Given the description of an element on the screen output the (x, y) to click on. 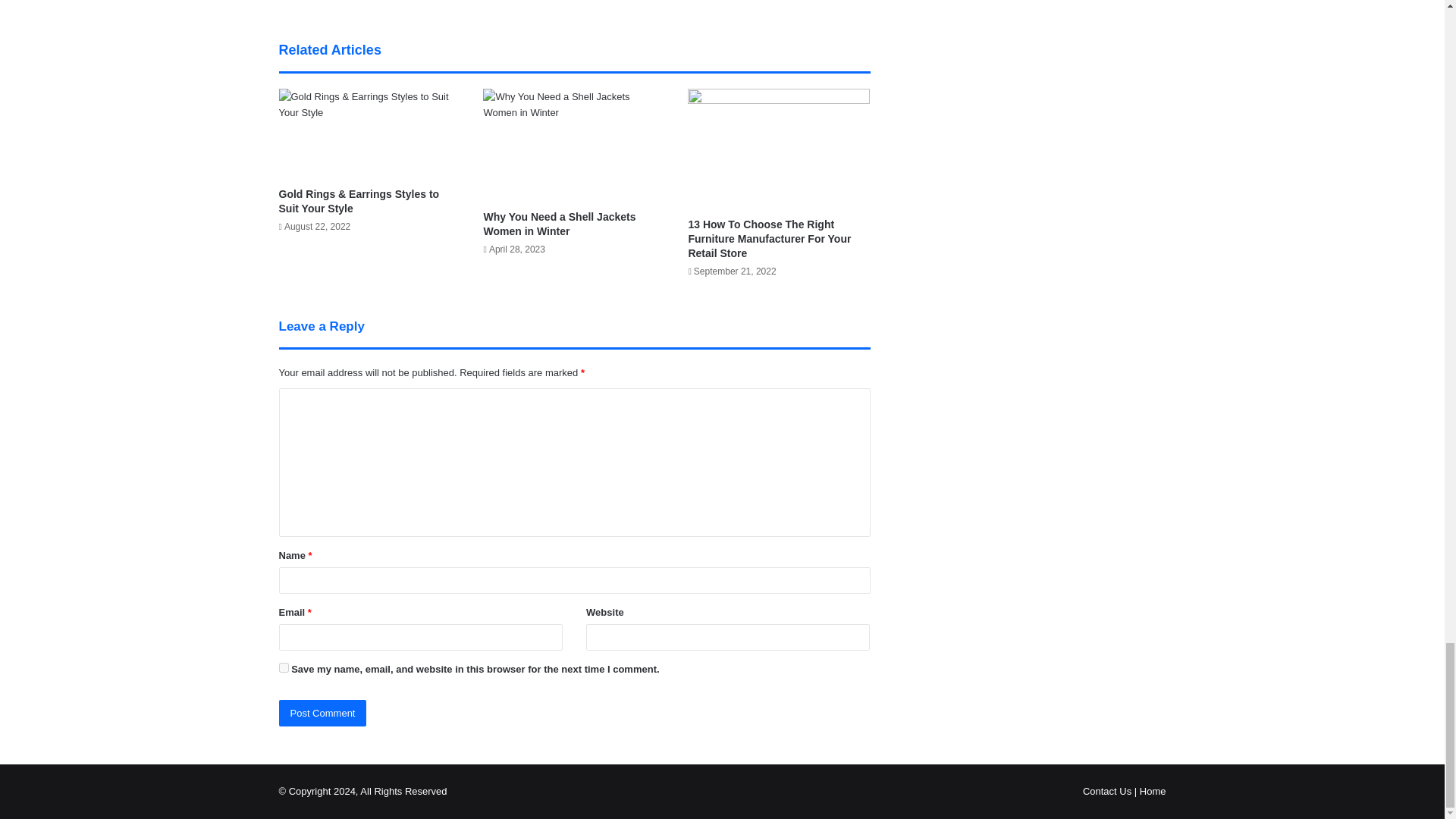
Why You Need a Shell Jackets Women in Winter (558, 223)
Post Comment (322, 713)
yes (283, 667)
Website (374, 1)
